Given the description of an element on the screen output the (x, y) to click on. 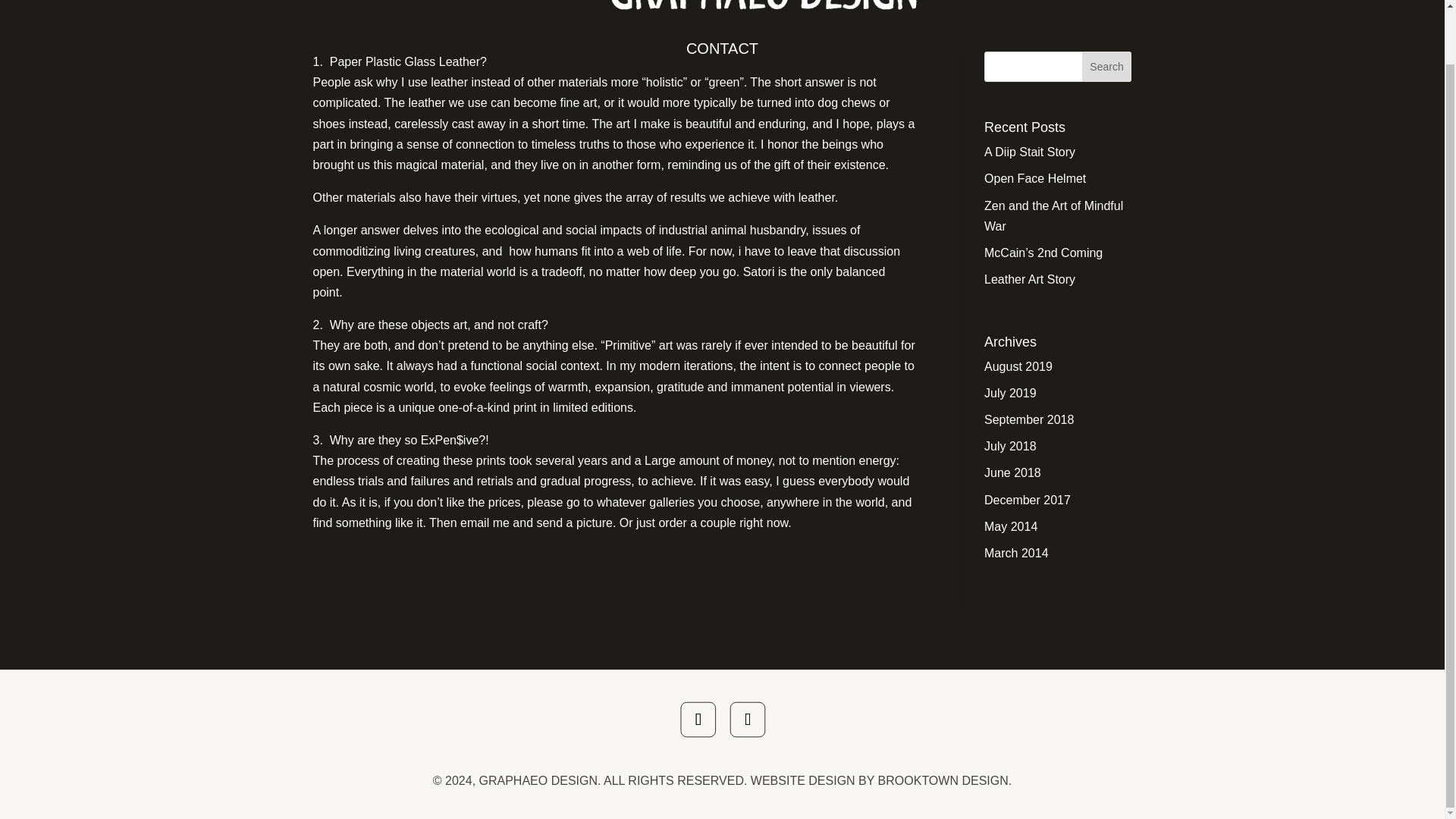
Search (1106, 66)
June 2018 (1012, 472)
May 2014 (1010, 526)
Follow on Youtube (751, 723)
A Diip Stait Story (1029, 151)
ABOUT (474, 9)
BLOG (974, 9)
Zen and the Art of Mindful War (1053, 215)
Open Face Helmet (1035, 178)
Search (1106, 66)
March 2014 (1016, 553)
August 2019 (1018, 366)
December 2017 (1027, 499)
July 2019 (1010, 392)
CONTACT (721, 47)
